Given the description of an element on the screen output the (x, y) to click on. 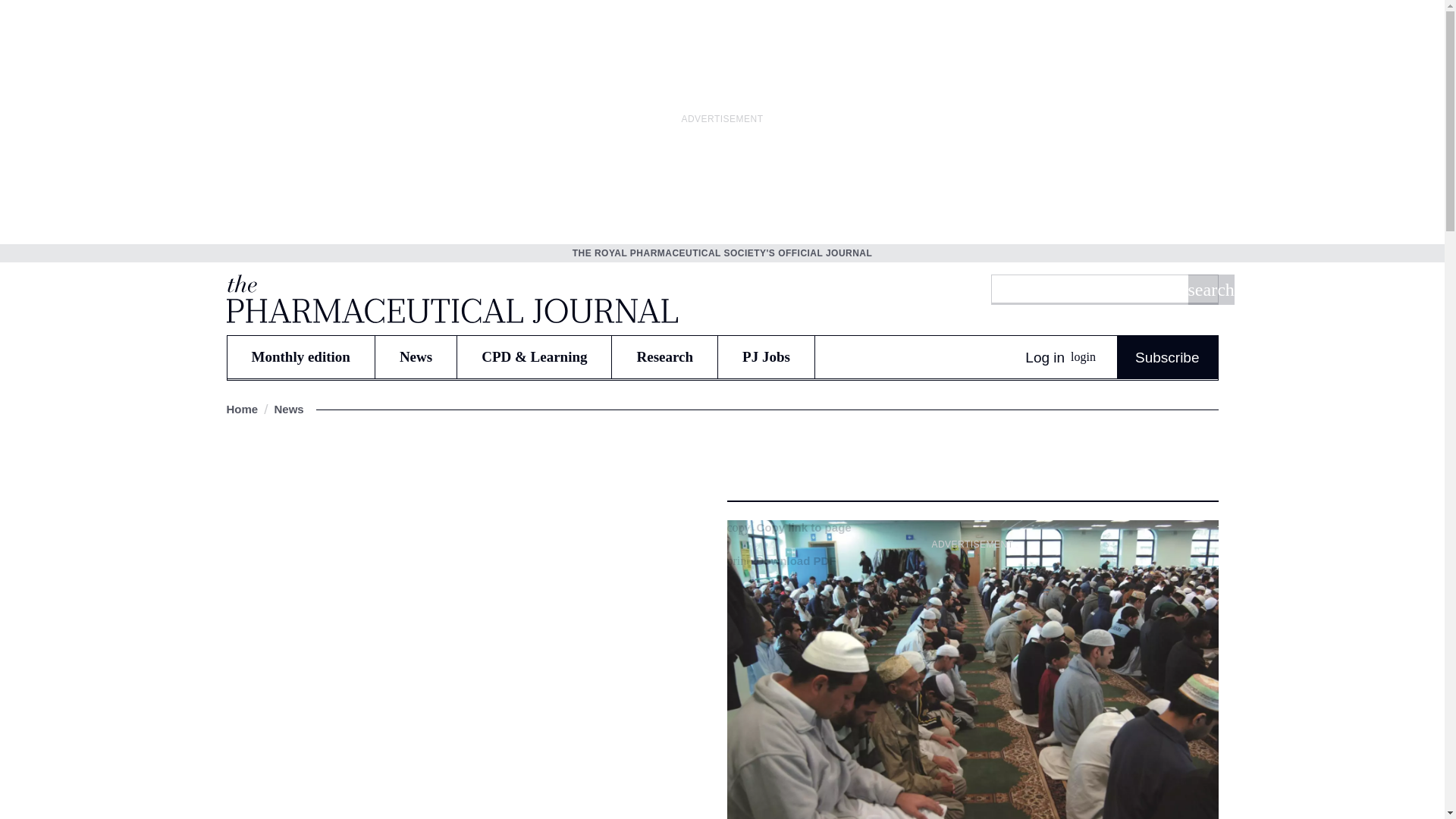
Monthly edition (300, 356)
News (416, 356)
The Pharmaceutical Journal (451, 298)
Search (1210, 289)
